Given the description of an element on the screen output the (x, y) to click on. 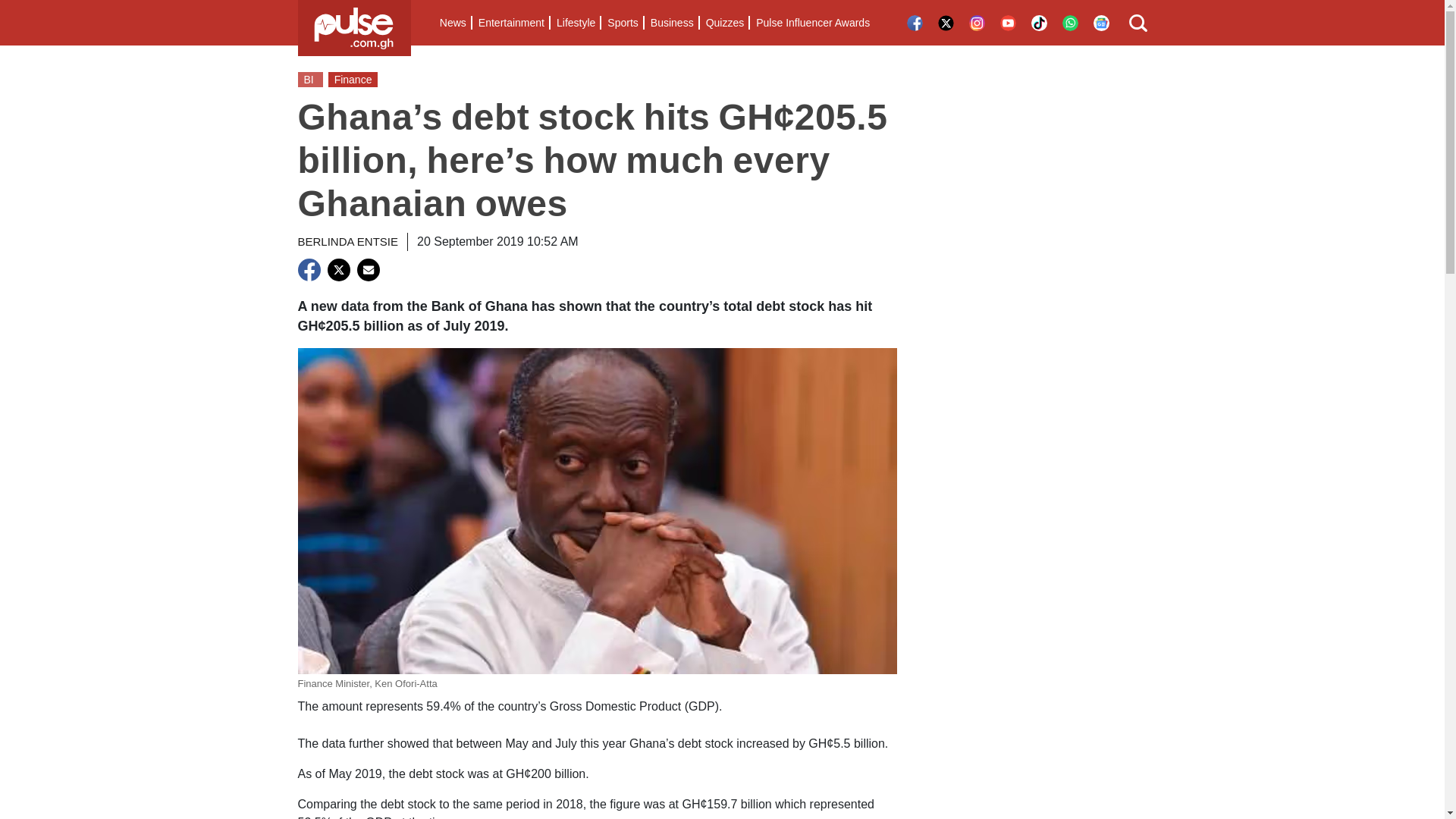
Entertainment (510, 22)
Lifestyle (575, 22)
Business (672, 22)
Sports (622, 22)
